Given the description of an element on the screen output the (x, y) to click on. 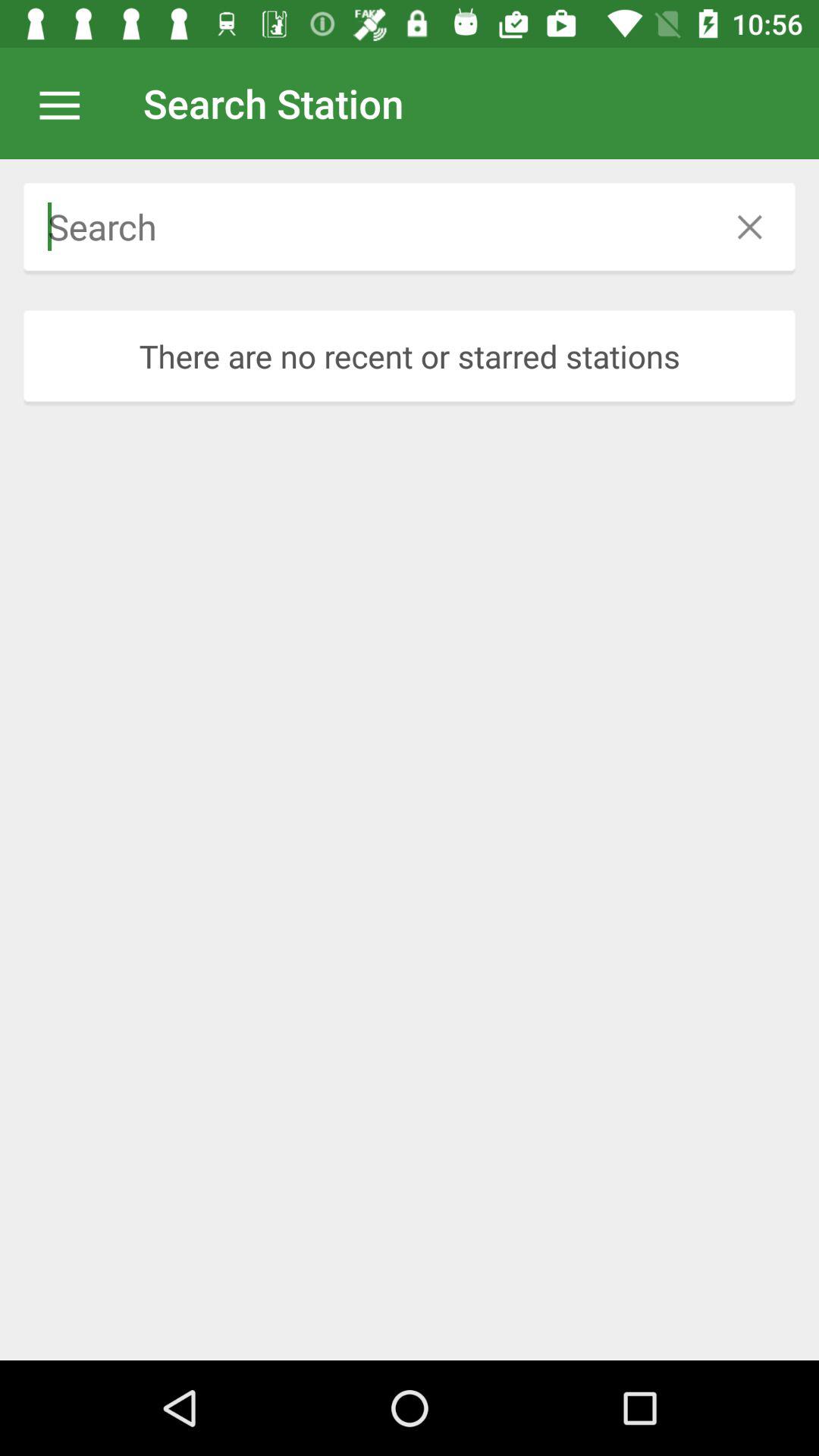
turn off the icon at the top right corner (749, 226)
